Given the description of an element on the screen output the (x, y) to click on. 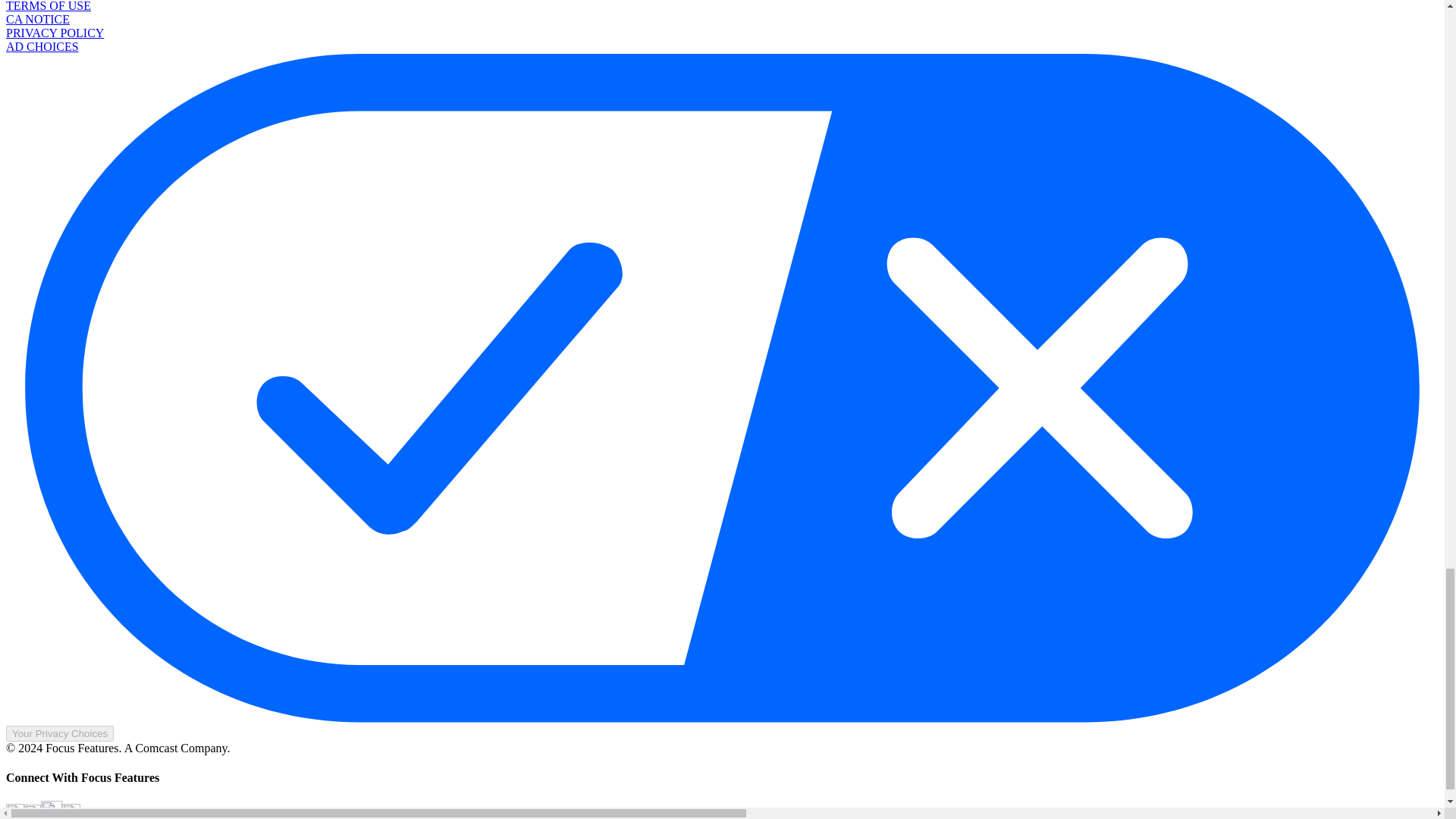
PRIVACY POLICY (54, 32)
CA NOTICE (37, 19)
Your Privacy Choices (59, 733)
AD CHOICES (41, 46)
TERMS OF USE (47, 6)
